Given the description of an element on the screen output the (x, y) to click on. 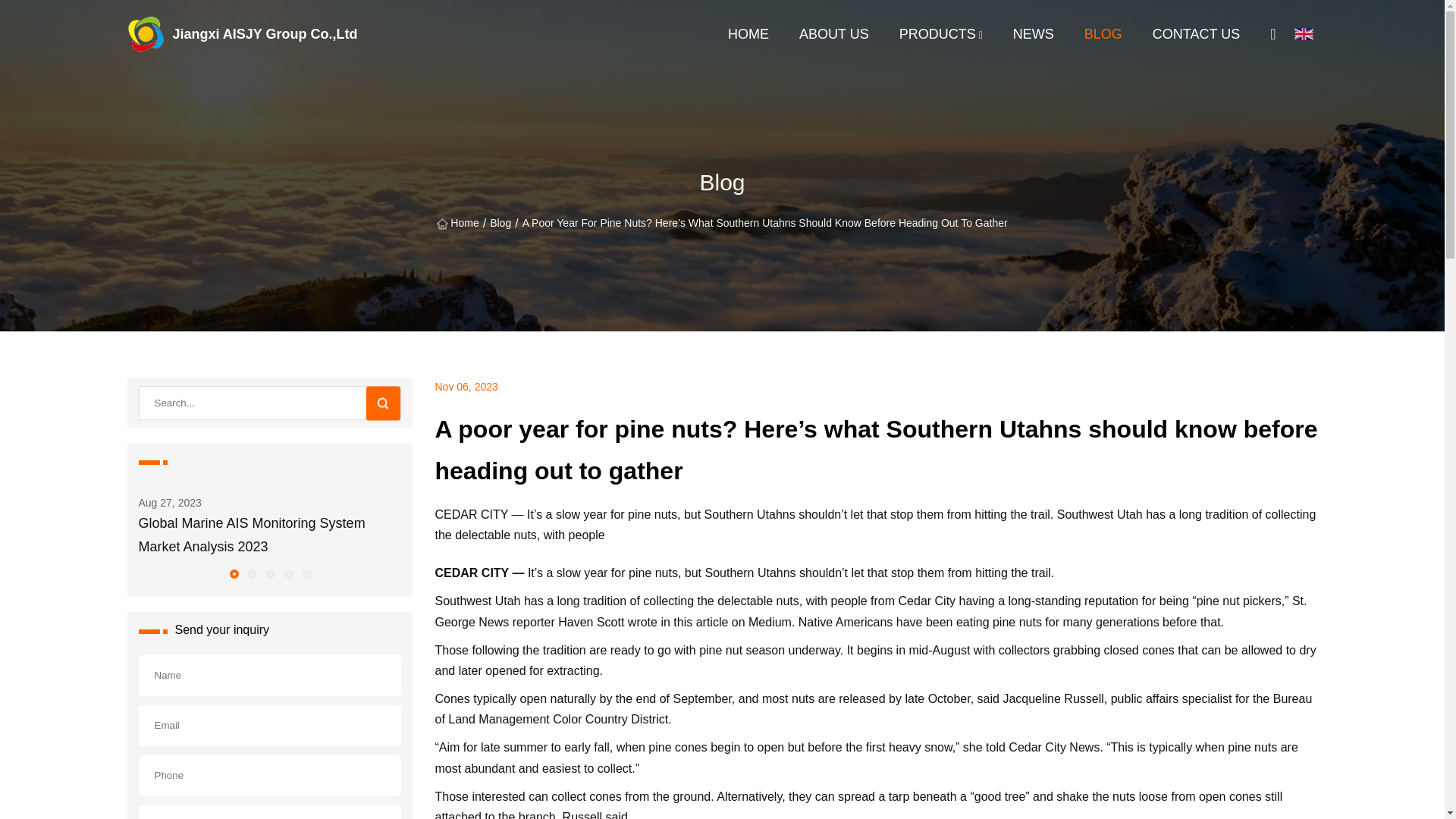
CONTACT US (1196, 33)
Language (1306, 33)
Jiangxi AISJY Group Co.,Ltd (161, 33)
PRODUCTS (937, 33)
Home (456, 223)
Blog (500, 223)
ABOUT US (834, 33)
Jiangxi AISJY Group Co.,Ltd (161, 33)
